Given the description of an element on the screen output the (x, y) to click on. 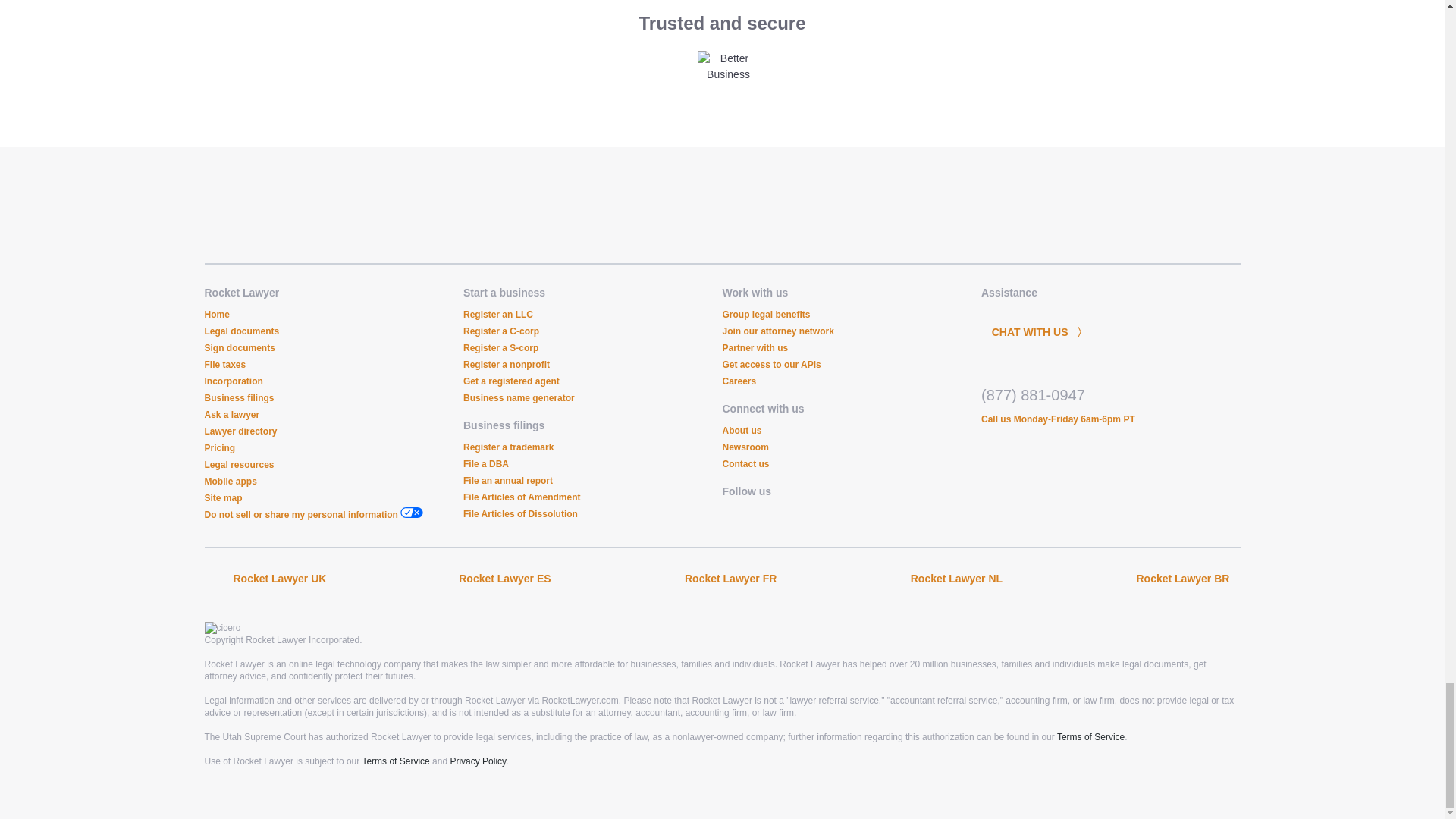
File taxes (225, 364)
Sign documents (240, 347)
Home (217, 314)
Ask a lawyer (232, 414)
Business filings (240, 398)
Incorporation (234, 380)
Lawyer directory (241, 430)
Legal resources (240, 464)
Legal documents (242, 330)
Pricing (220, 448)
